Given the description of an element on the screen output the (x, y) to click on. 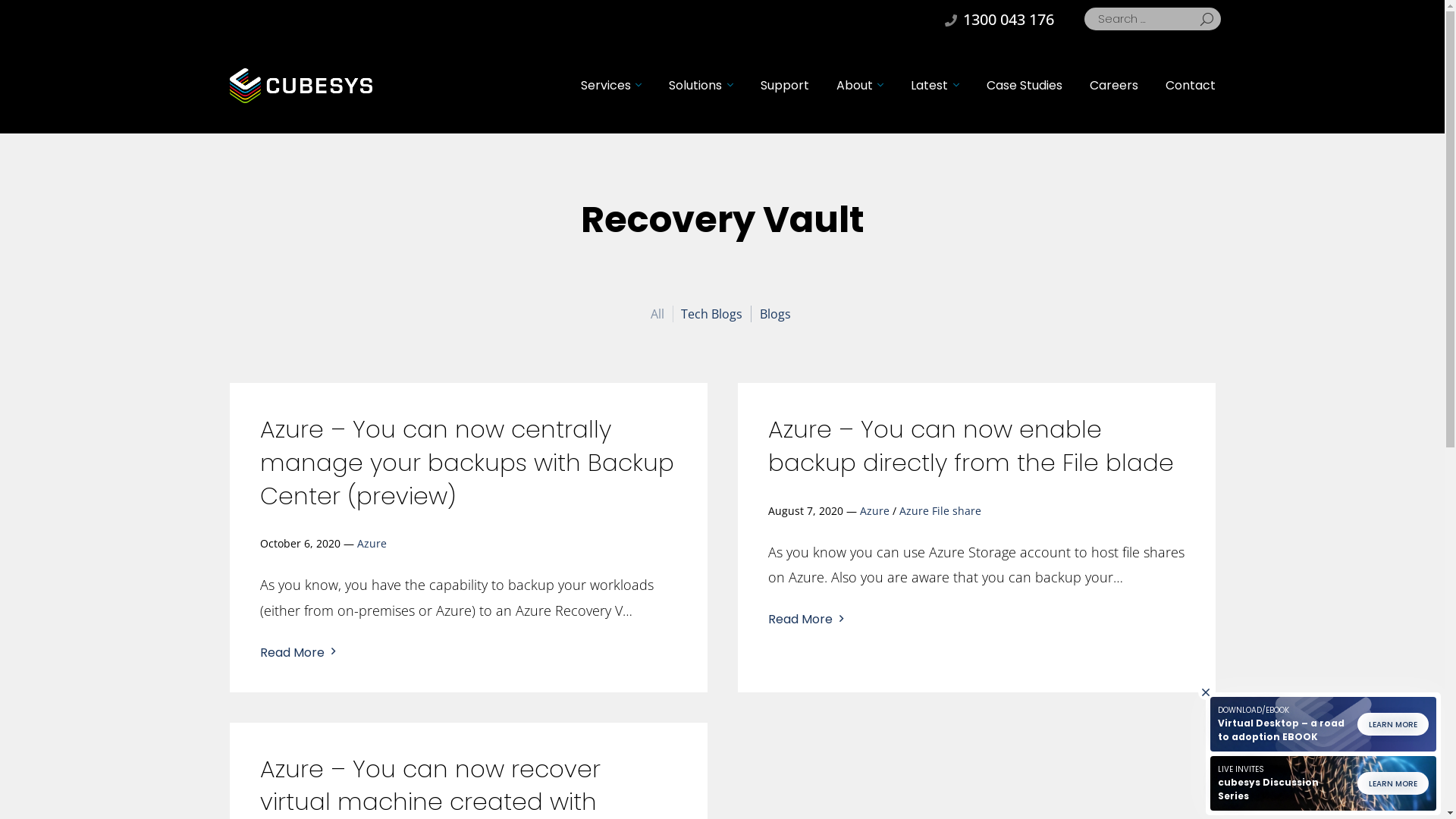
Tech Blogs Element type: text (714, 313)
LEARN MORE Element type: text (1392, 723)
Services Element type: text (610, 85)
Case Studies Element type: text (1023, 85)
1300 043 176 Element type: text (999, 19)
Blogs Element type: text (776, 313)
About Element type: text (859, 85)
All Element type: text (659, 313)
Careers Element type: text (1112, 85)
cubesys Discussion Series Element type: text (1267, 788)
Azure Element type: text (874, 510)
LEARN MORE Element type: text (1392, 782)
Contact Element type: text (1189, 85)
Azure File share Element type: text (940, 510)
Support Element type: text (784, 85)
Read More Element type: text (291, 655)
Solutions Element type: text (700, 85)
Latest Element type: text (934, 85)
Read More Element type: text (799, 621)
Azure Element type: text (370, 543)
